Given the description of an element on the screen output the (x, y) to click on. 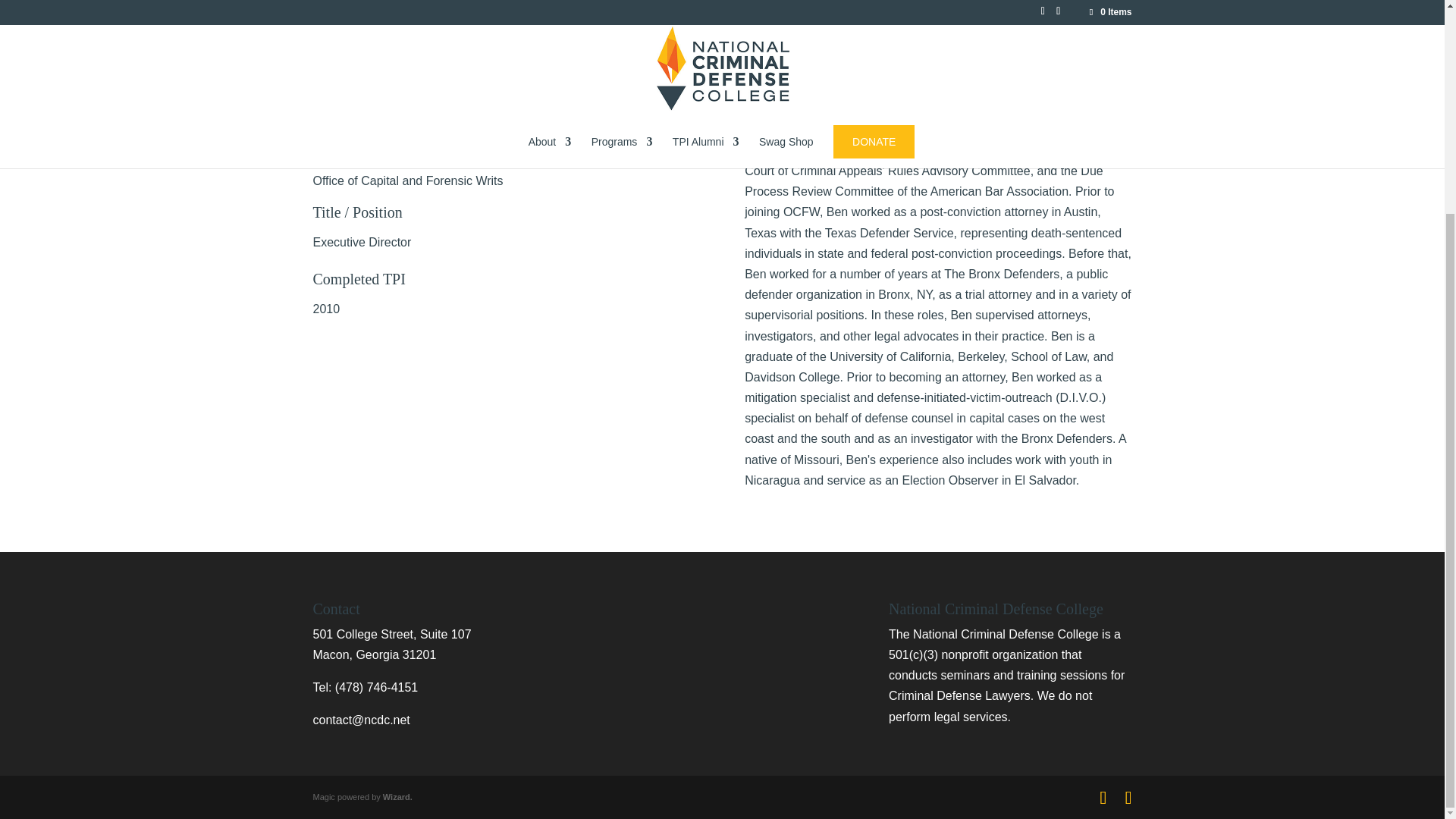
Wizard. (397, 796)
